Given the description of an element on the screen output the (x, y) to click on. 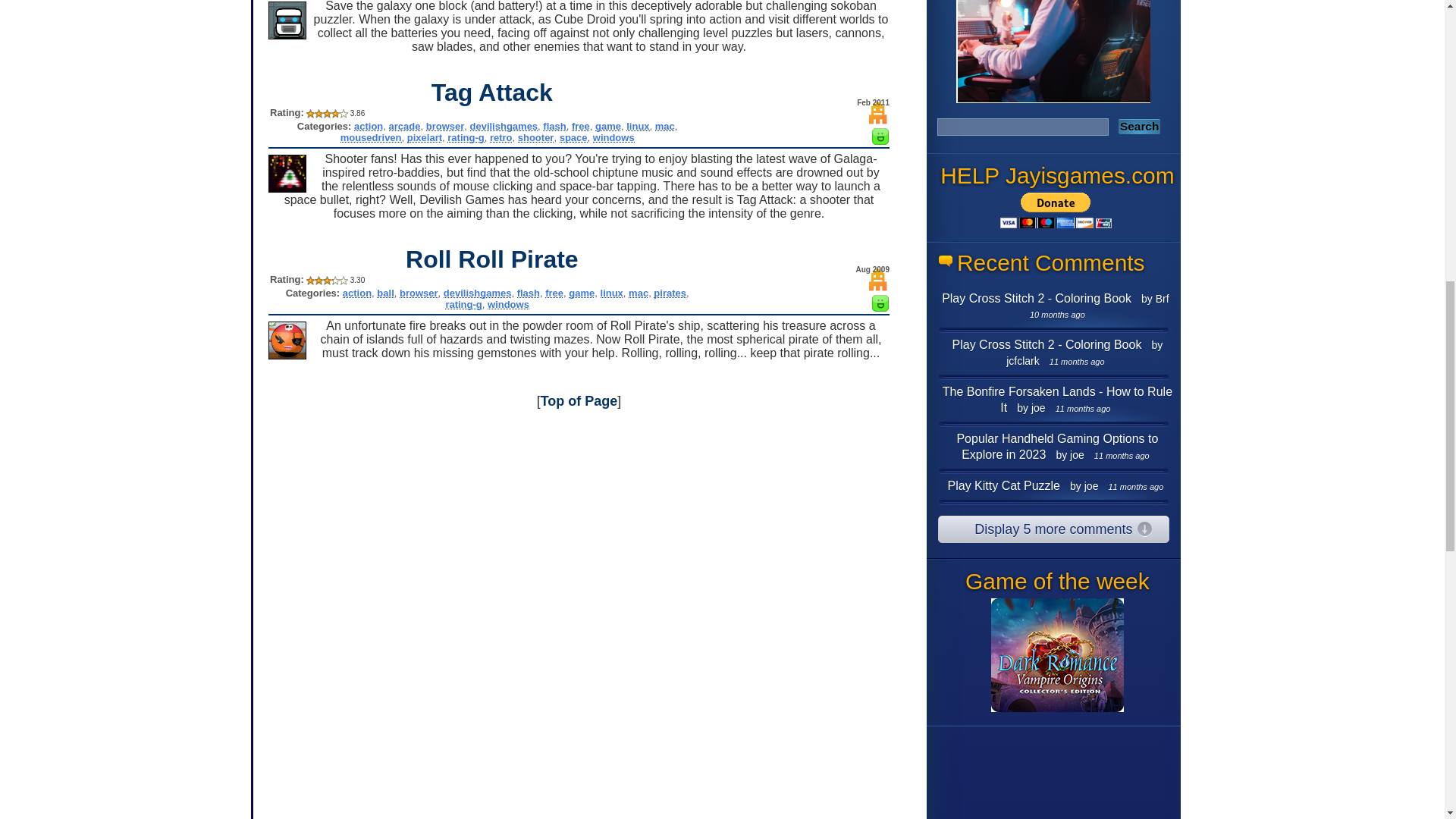
This game is rated :D for content (879, 307)
Dark Romance: Vampire Origins Collector's Edition (1057, 654)
Search (1139, 126)
PayPal - The safer, easier way to pay online! (1056, 210)
This game is rated :D for content (879, 140)
